Given the description of an element on the screen output the (x, y) to click on. 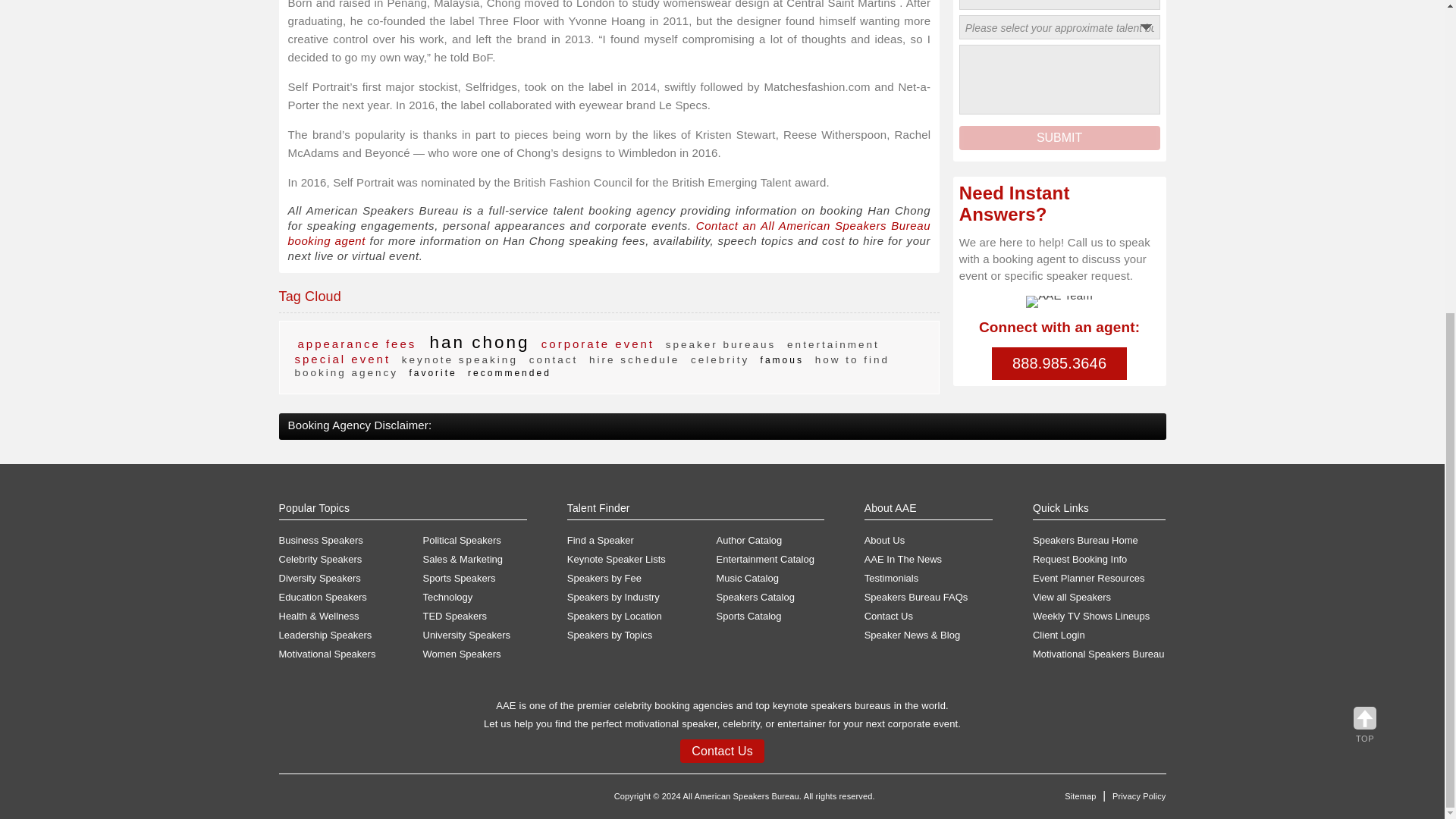
Find a Speaker (641, 540)
Women Speakers (475, 653)
TED Speakers (475, 616)
Political Speakers (475, 540)
Business Speakers (351, 540)
SUBMIT (1059, 137)
University Speakers (475, 635)
Motivational Speakers (351, 653)
Facebook (290, 804)
Technology (475, 597)
Sports Speakers (475, 578)
Twitter (319, 804)
You Tube (379, 804)
Speakers by Fee (641, 578)
Leadership Speakers (351, 635)
